Given the description of an element on the screen output the (x, y) to click on. 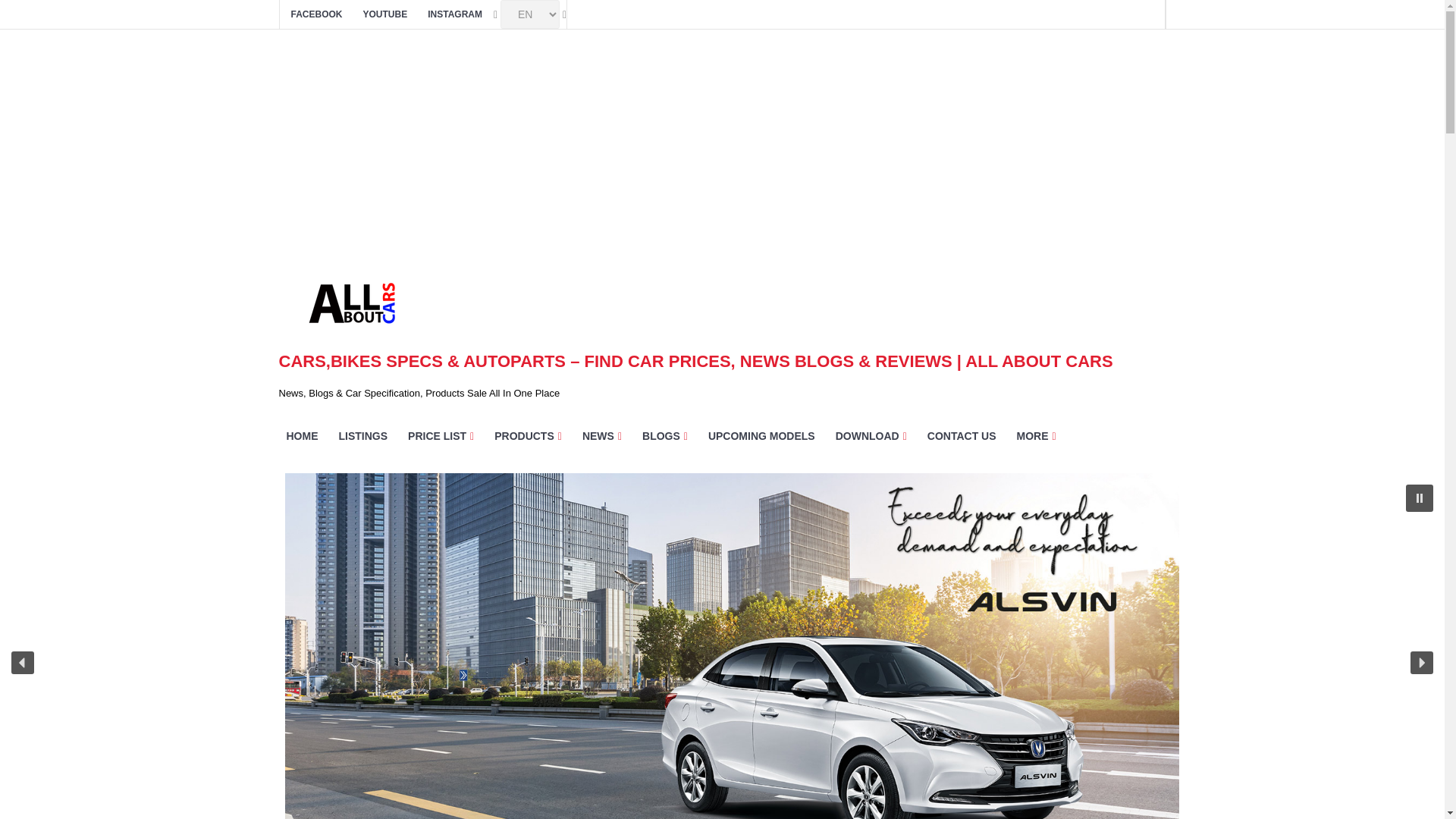
PRICE LIST (440, 435)
NEWS (601, 435)
UPCOMING MODELS (761, 435)
BLOGS (664, 435)
INSTAGRAM (454, 14)
LISTINGS (362, 435)
YOUTUBE (384, 14)
DOWNLOAD (871, 435)
FACEBOOK (316, 14)
PRODUCTS (527, 435)
CONTACT US (962, 435)
HOME (302, 435)
MORE (1036, 435)
